Given the description of an element on the screen output the (x, y) to click on. 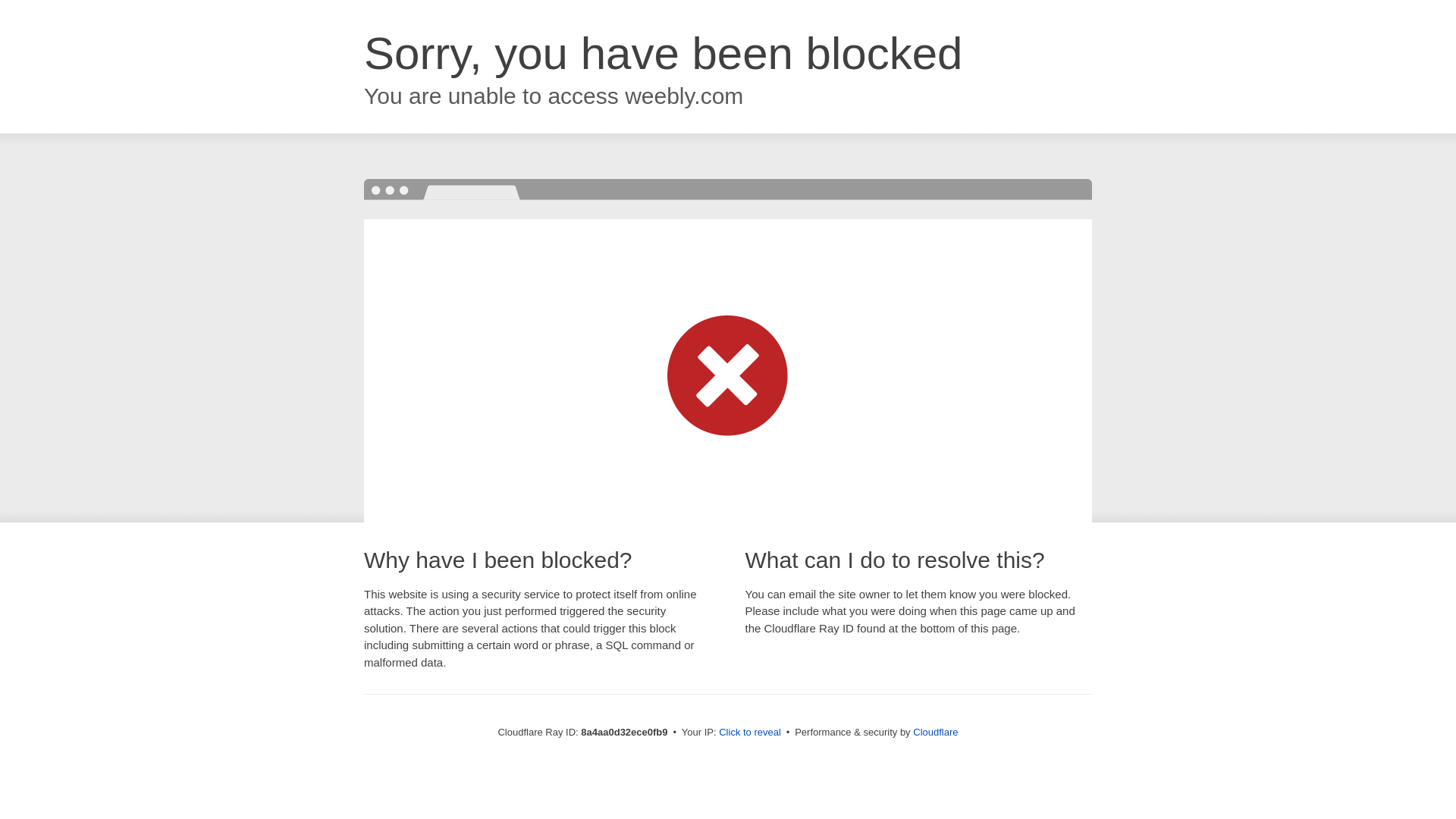
Click to reveal (749, 732)
Cloudflare (935, 731)
